Given the description of an element on the screen output the (x, y) to click on. 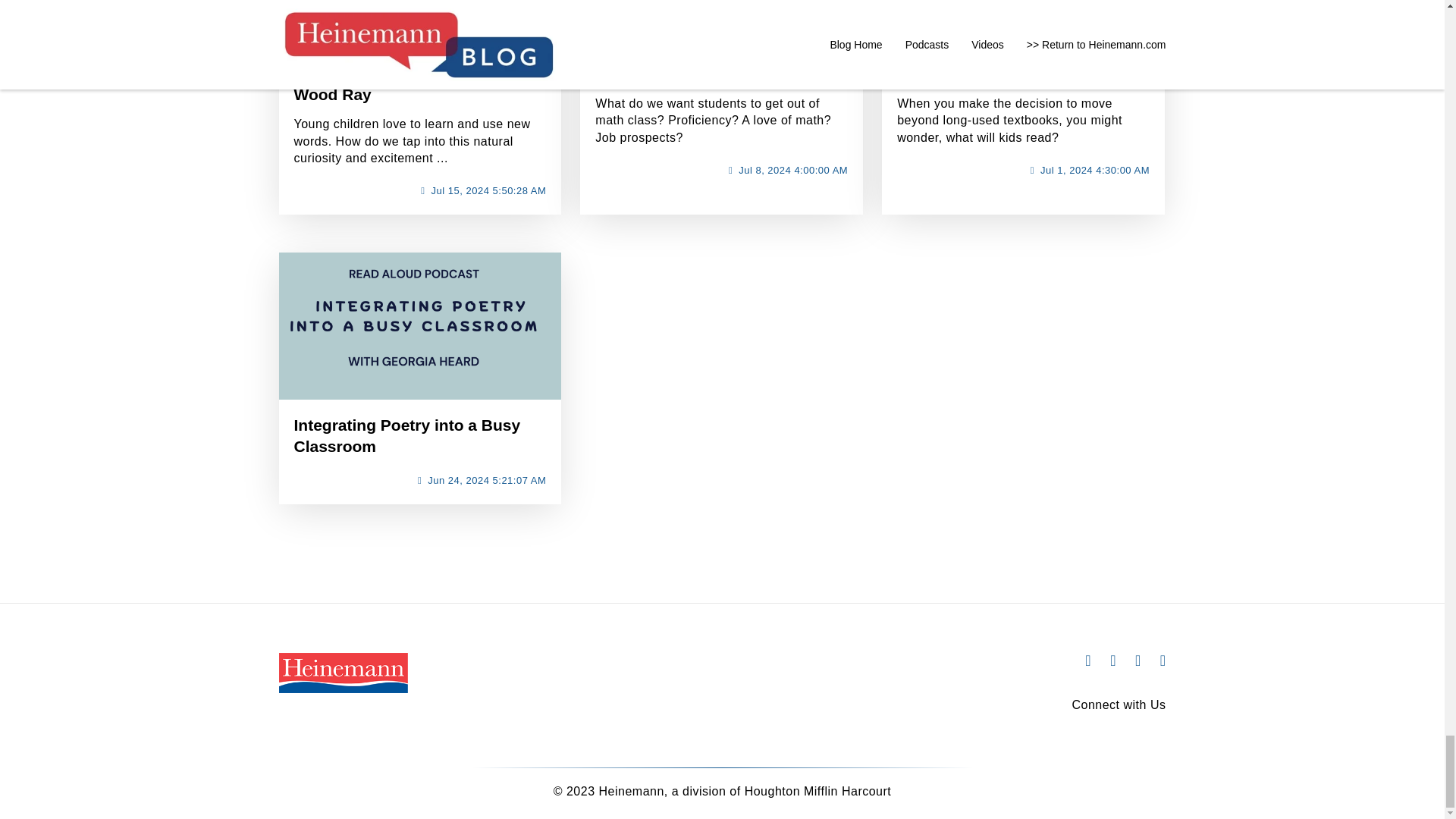
Heinemann-primary-logo-RGB (343, 672)
